Given the description of an element on the screen output the (x, y) to click on. 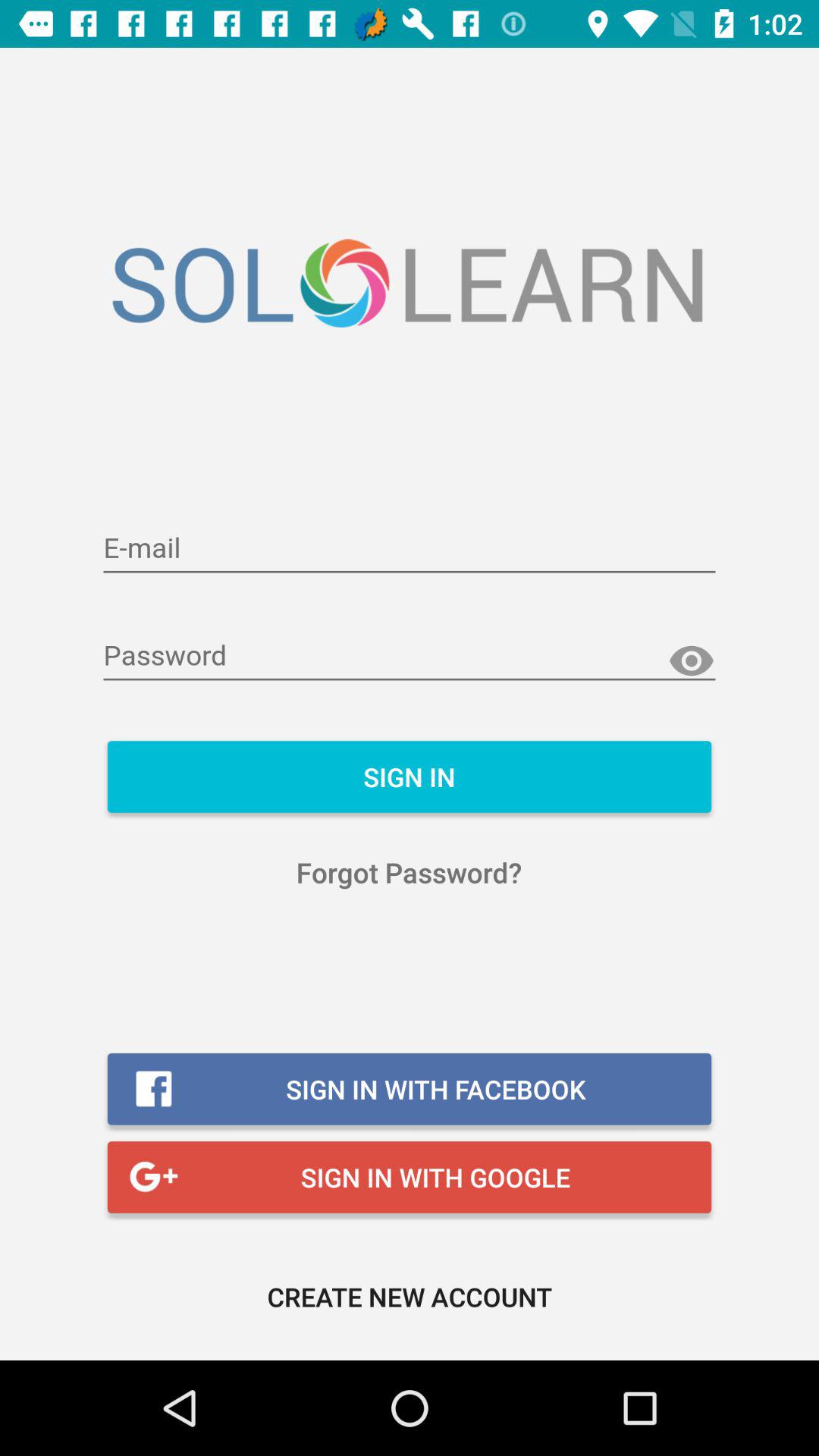
enter user name (409, 548)
